Given the description of an element on the screen output the (x, y) to click on. 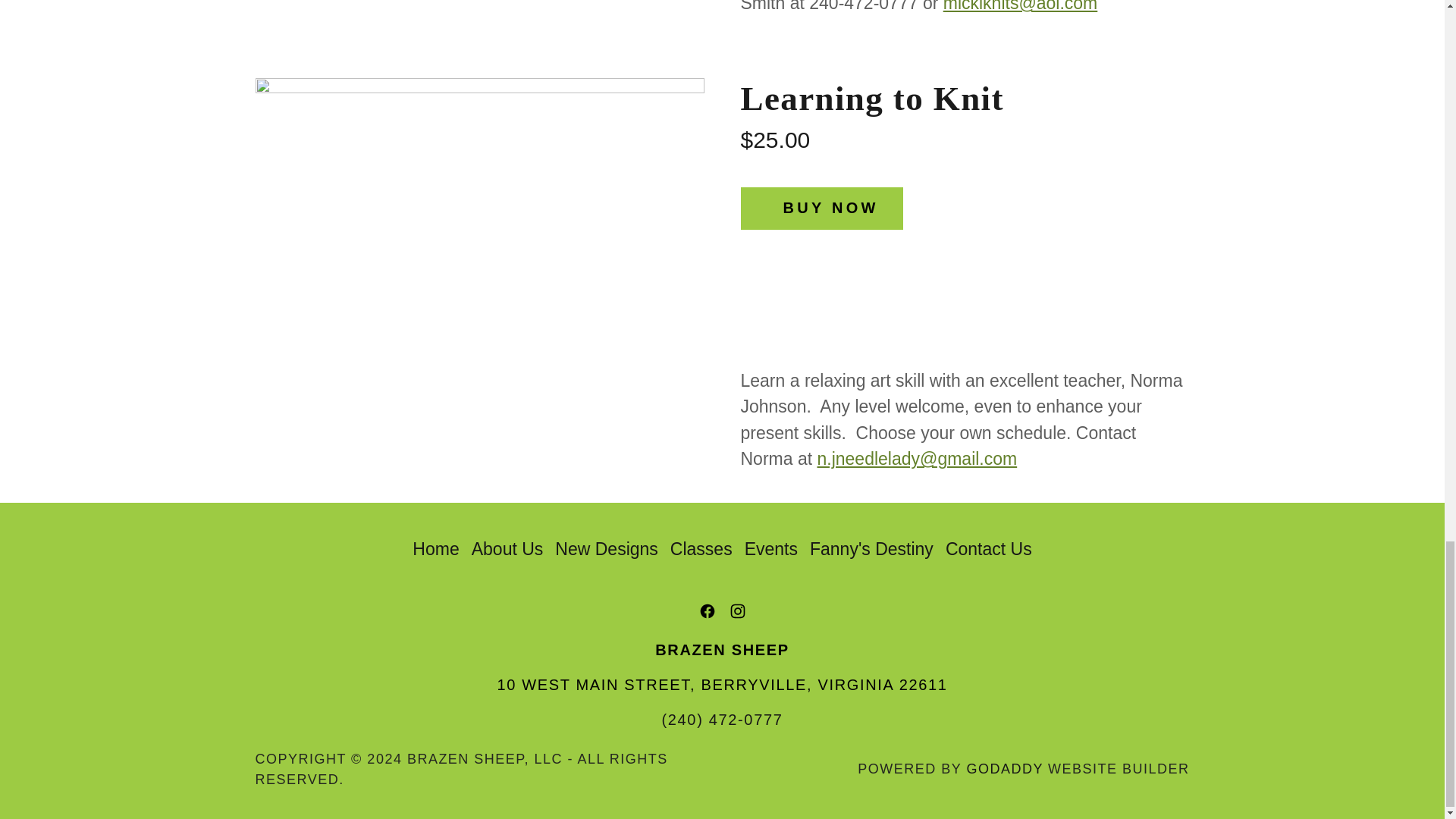
Home (435, 549)
Classes (700, 549)
Fanny's Destiny (871, 549)
Contact Us (988, 549)
Events (770, 549)
BUY NOW (820, 208)
New Designs (605, 549)
About Us (507, 549)
